Given the description of an element on the screen output the (x, y) to click on. 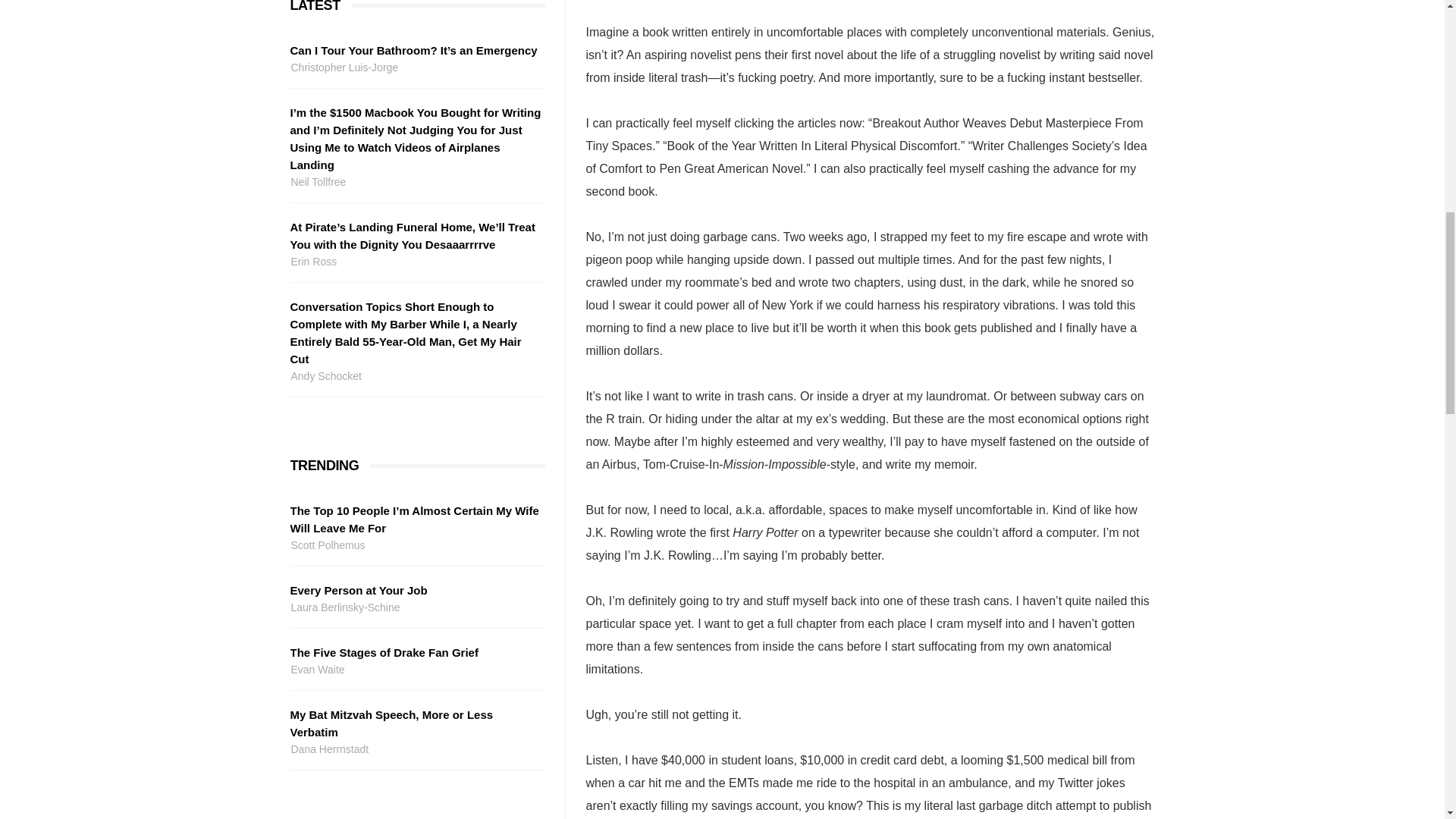
The Five Stages of Drake Fan Grief (414, 651)
Dana Herrnstadt (414, 749)
Laura Berlinsky-Schine (414, 607)
Neil Tollfree (414, 181)
Erin Ross (414, 262)
Christopher Luis-Jorge (414, 67)
My Bat Mitzvah Speech, More or Less Verbatim (414, 723)
Scott Polhemus (414, 545)
Andy Schocket (414, 375)
Evan Waite (414, 669)
Every Person at Your Job (414, 589)
